Given the description of an element on the screen output the (x, y) to click on. 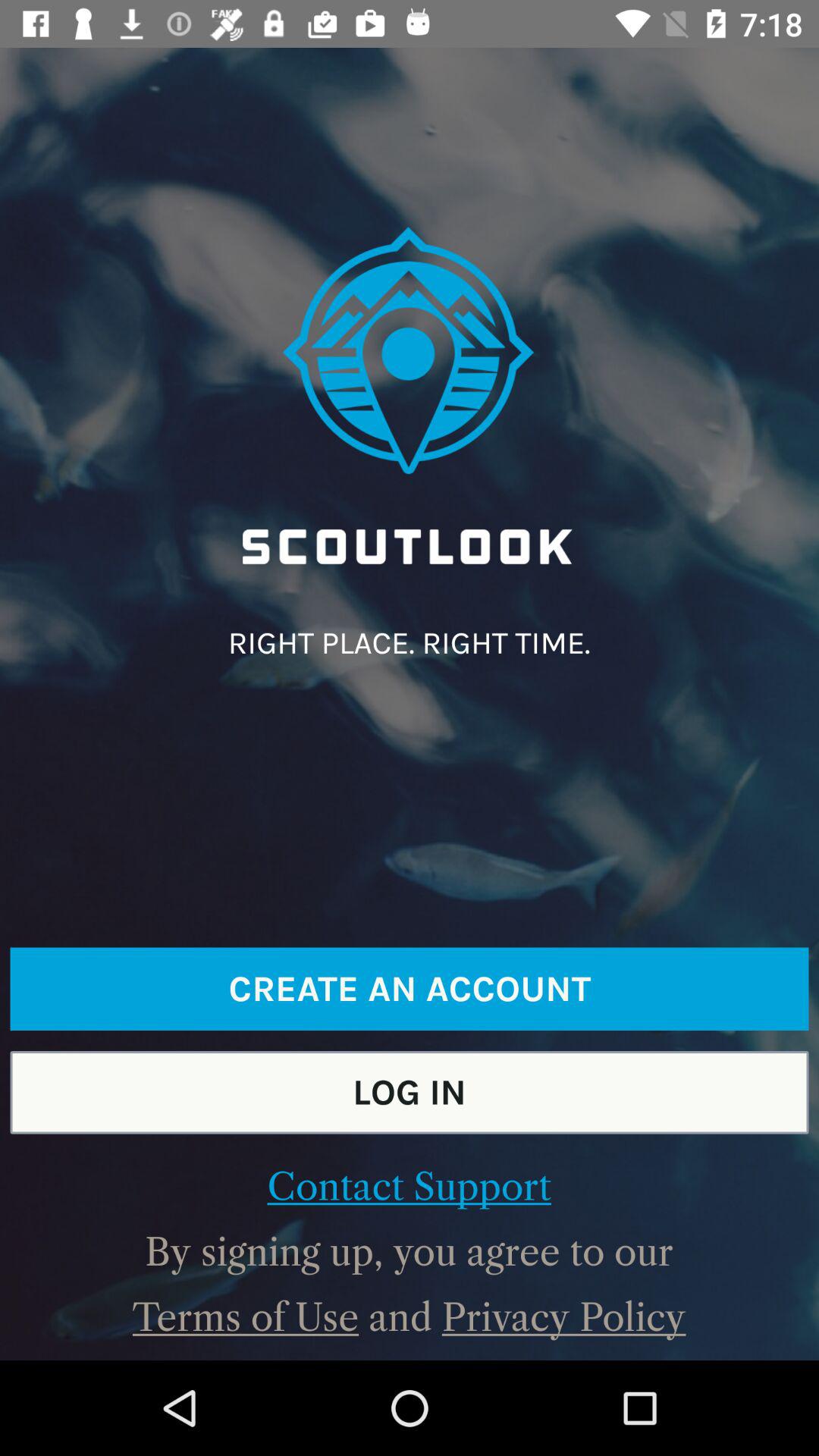
open contact support (409, 1186)
